Given the description of an element on the screen output the (x, y) to click on. 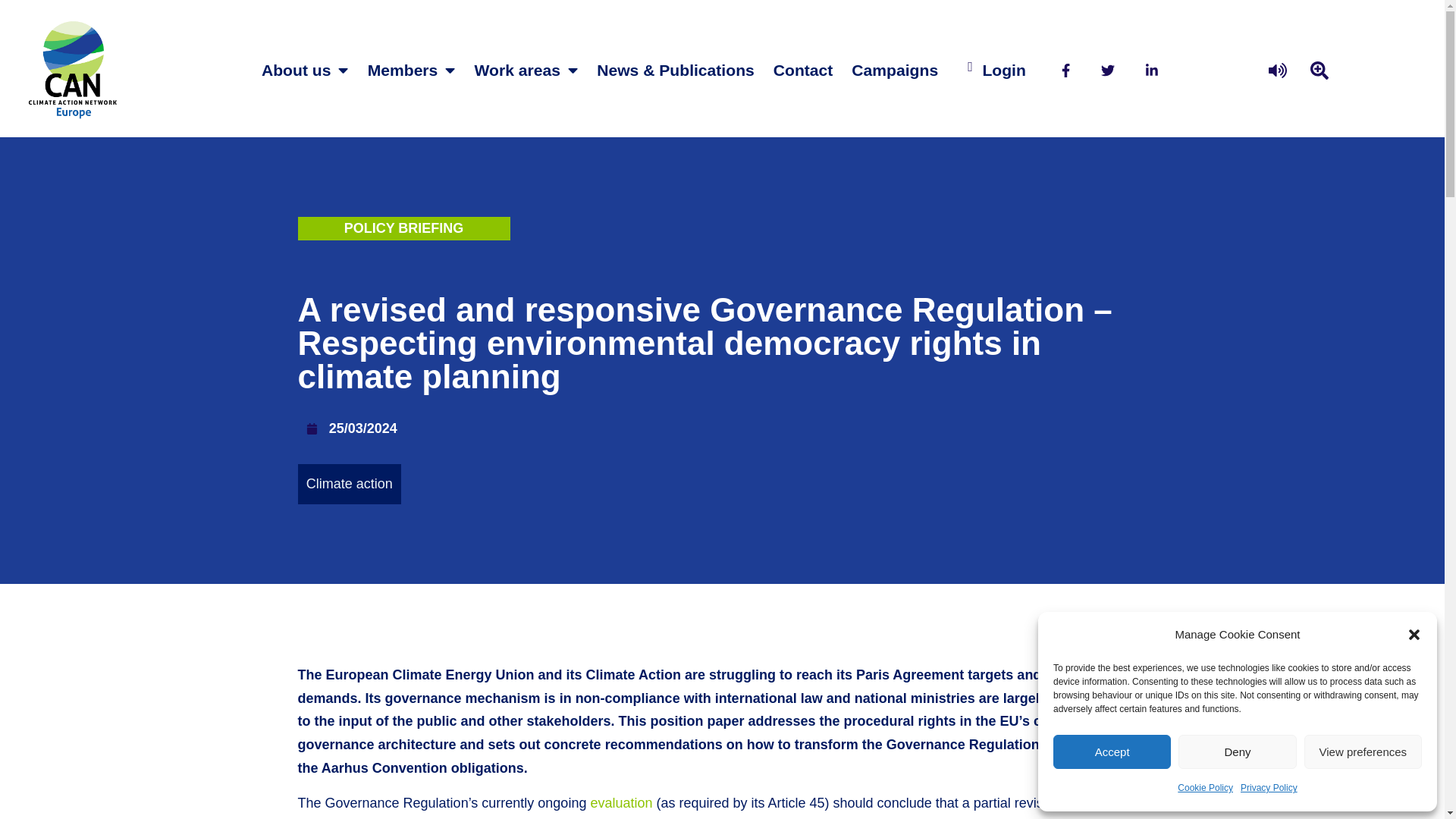
Cookie Policy (1205, 788)
Members (411, 69)
Accept (1111, 751)
Contact (803, 69)
Campaigns (895, 69)
Privacy Policy (1268, 788)
View preferences (1363, 751)
Deny (1236, 751)
About us (304, 69)
Work areas (526, 69)
